Given the description of an element on the screen output the (x, y) to click on. 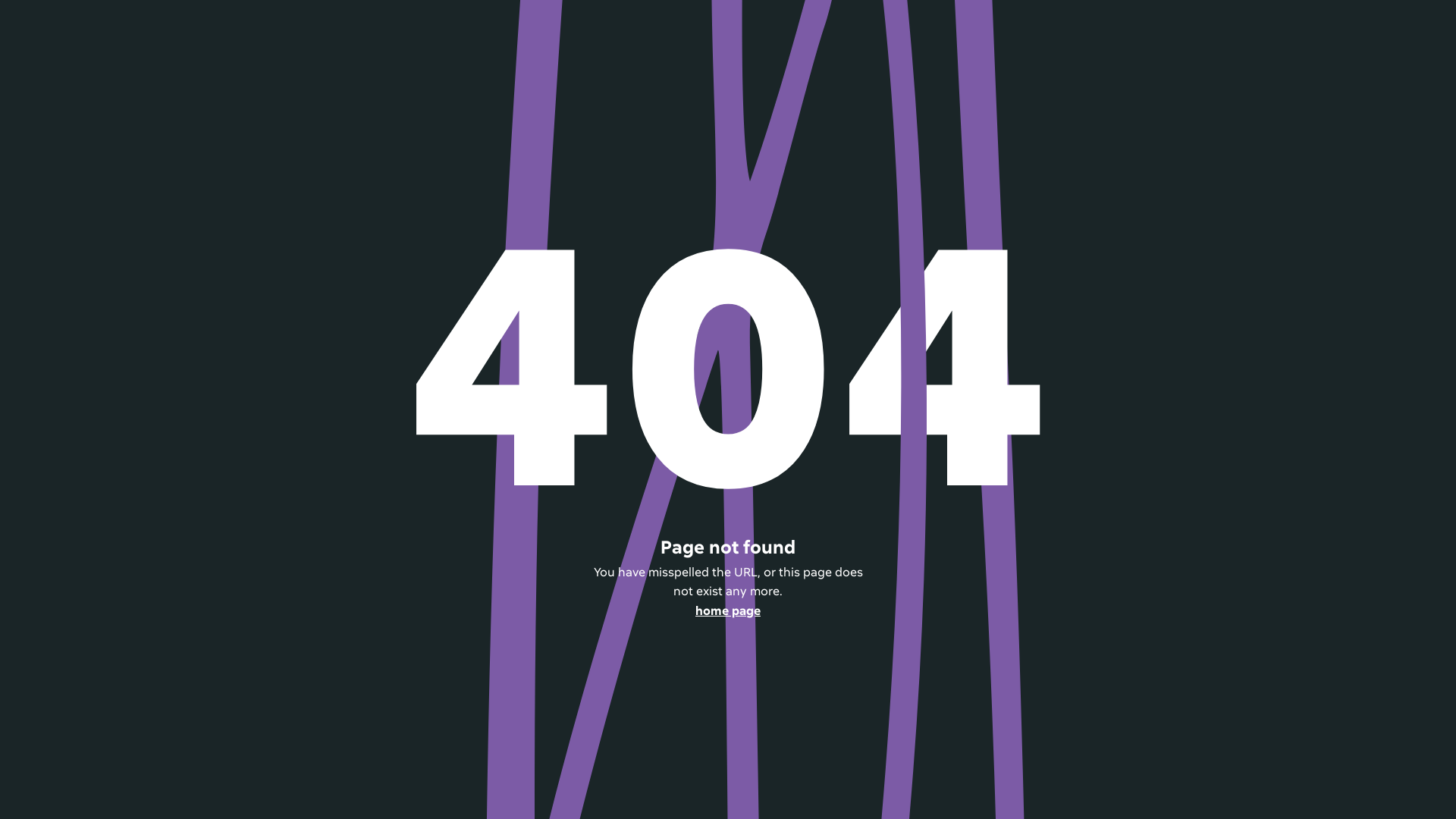
home page Element type: text (727, 611)
